Given the description of an element on the screen output the (x, y) to click on. 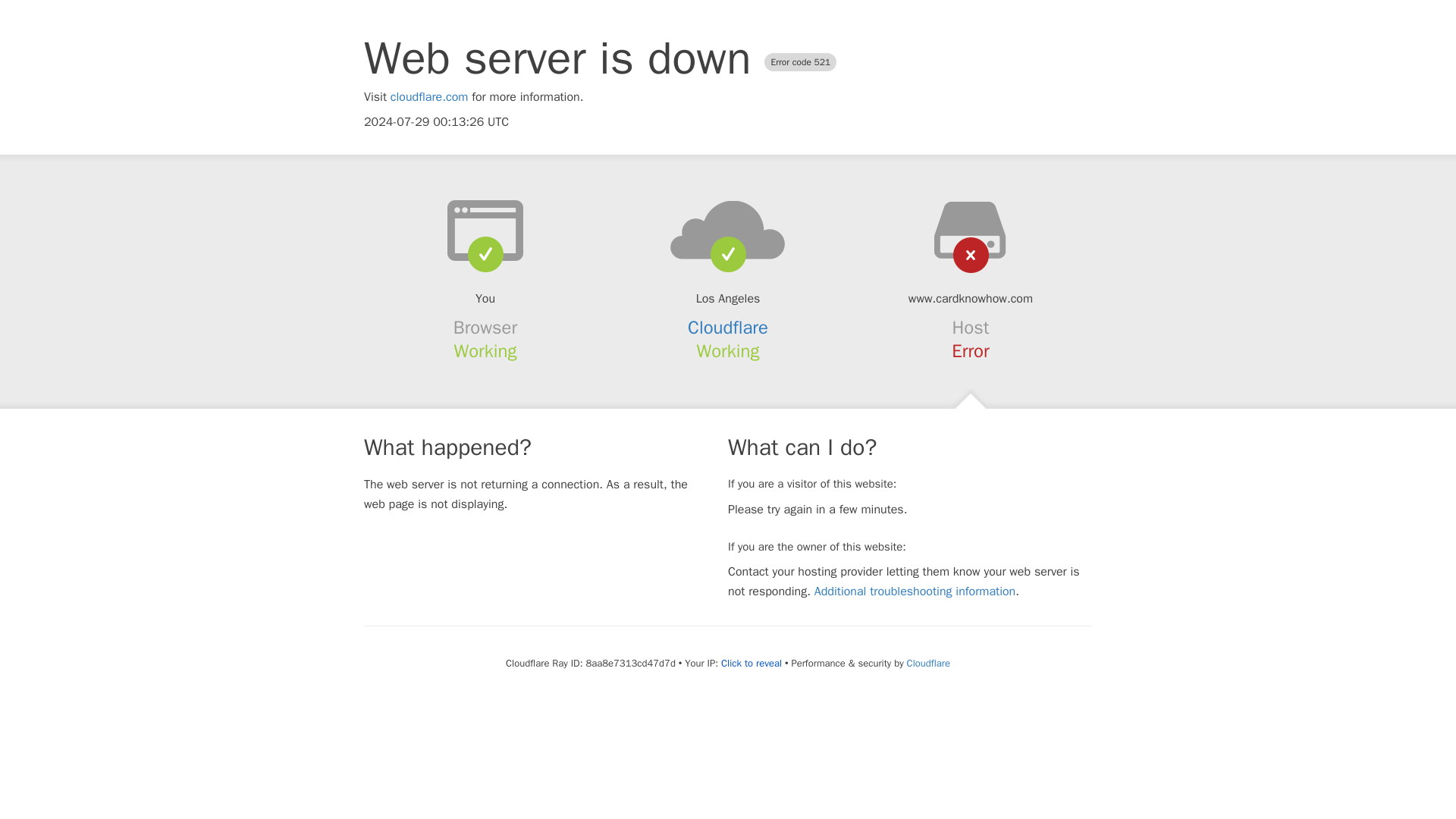
Cloudflare (928, 662)
Cloudflare (727, 327)
cloudflare.com (429, 96)
Additional troubleshooting information (913, 590)
Click to reveal (750, 663)
